Given the description of an element on the screen output the (x, y) to click on. 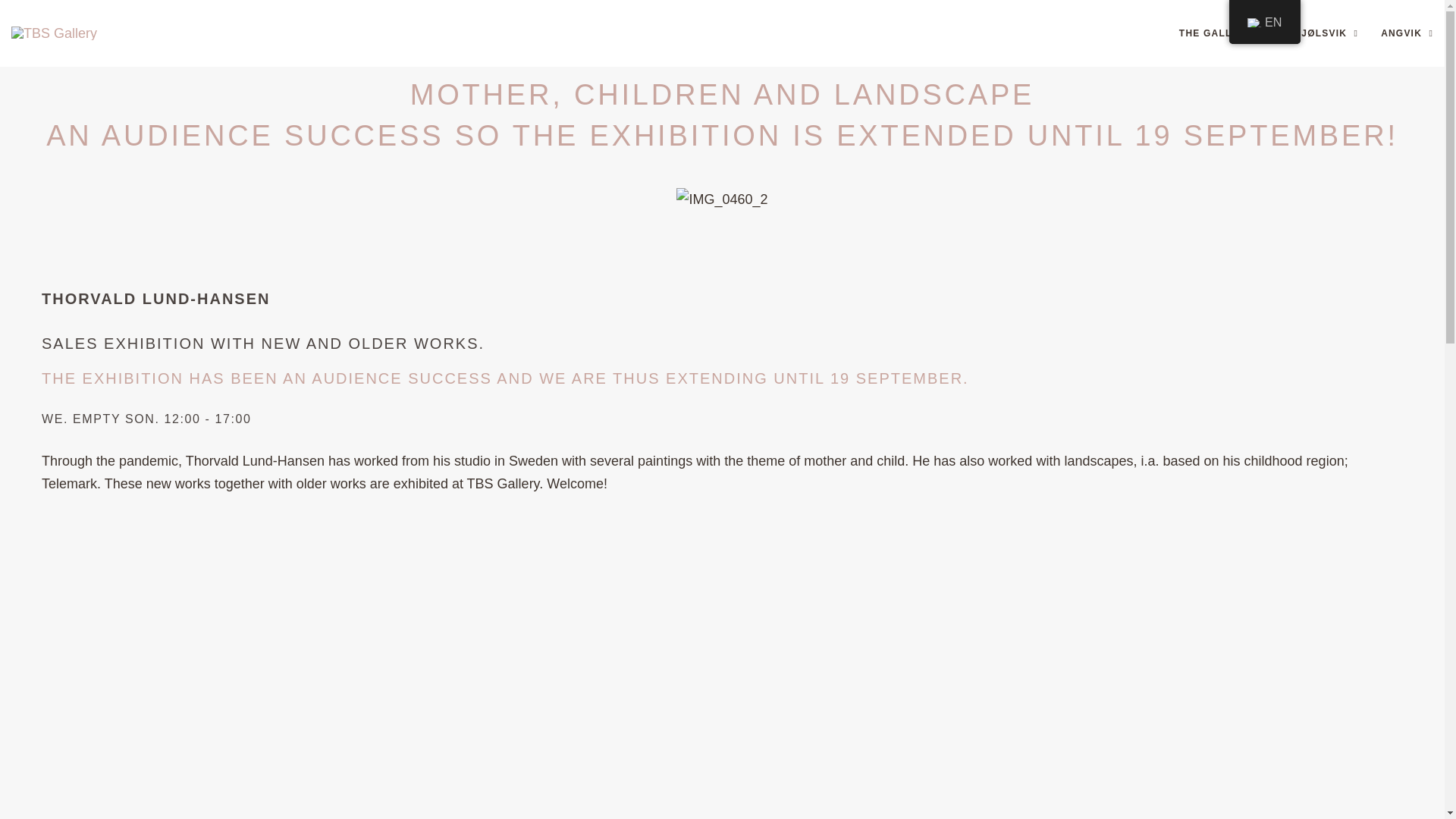
THE GALLERY (1221, 32)
ANGVIK (1406, 32)
EN (1264, 22)
